Given the description of an element on the screen output the (x, y) to click on. 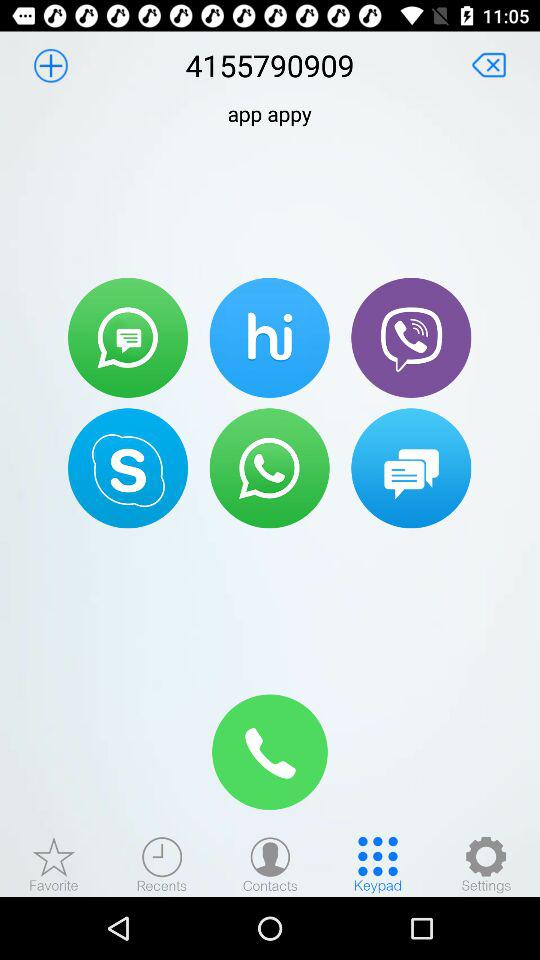
call using skype (127, 468)
